Given the description of an element on the screen output the (x, y) to click on. 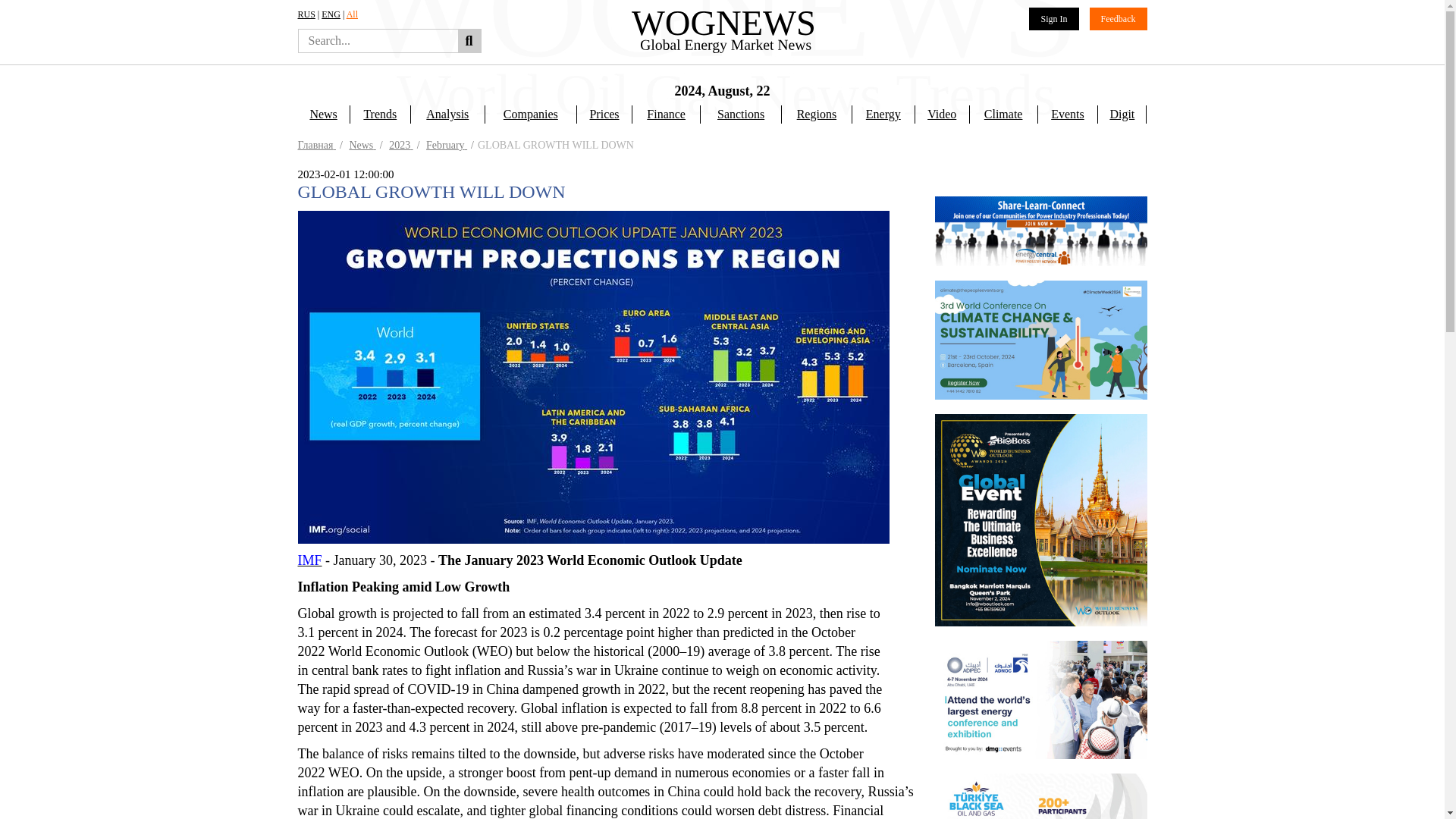
Find (469, 40)
RUS (305, 14)
Energy (883, 114)
ADIPEC 2024, Abu Dhabi, 4-7 November 2024 (1040, 699)
World Business Outlook, November 2, 2024, Bangkok, Thailand (1040, 723)
Companies (530, 114)
ENERGY-CENTRAL-1 (1040, 273)
Regions (816, 114)
ADIPEC 2024, Abu Dhabi, 4-7 November 2024 (1040, 789)
Feedback (1118, 18)
